Given the description of an element on the screen output the (x, y) to click on. 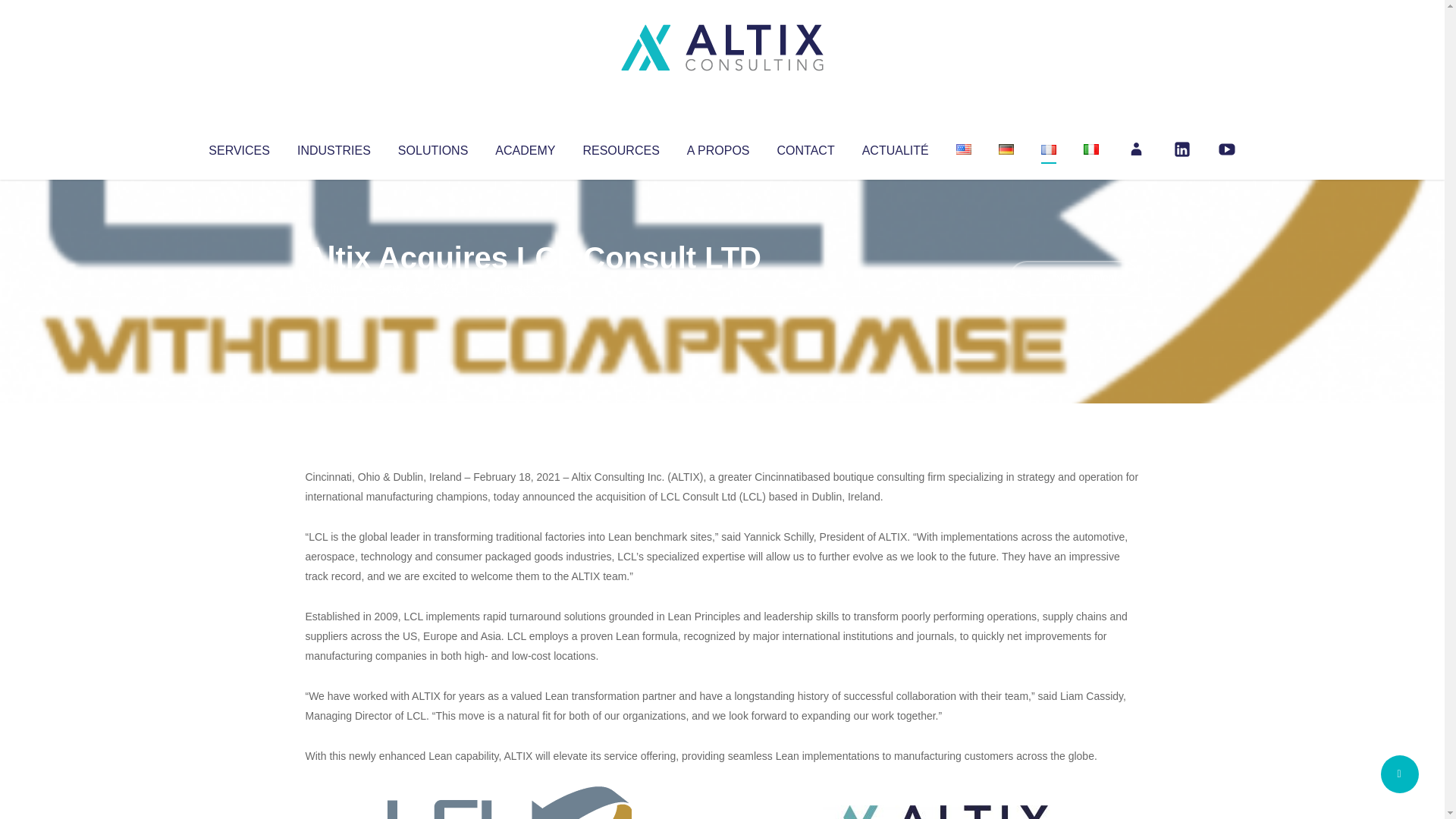
RESOURCES (620, 146)
Uncategorized (530, 287)
SOLUTIONS (432, 146)
INDUSTRIES (334, 146)
No Comments (1073, 278)
SERVICES (238, 146)
Articles par Altix (333, 287)
Altix (333, 287)
ACADEMY (524, 146)
A PROPOS (718, 146)
